Given the description of an element on the screen output the (x, y) to click on. 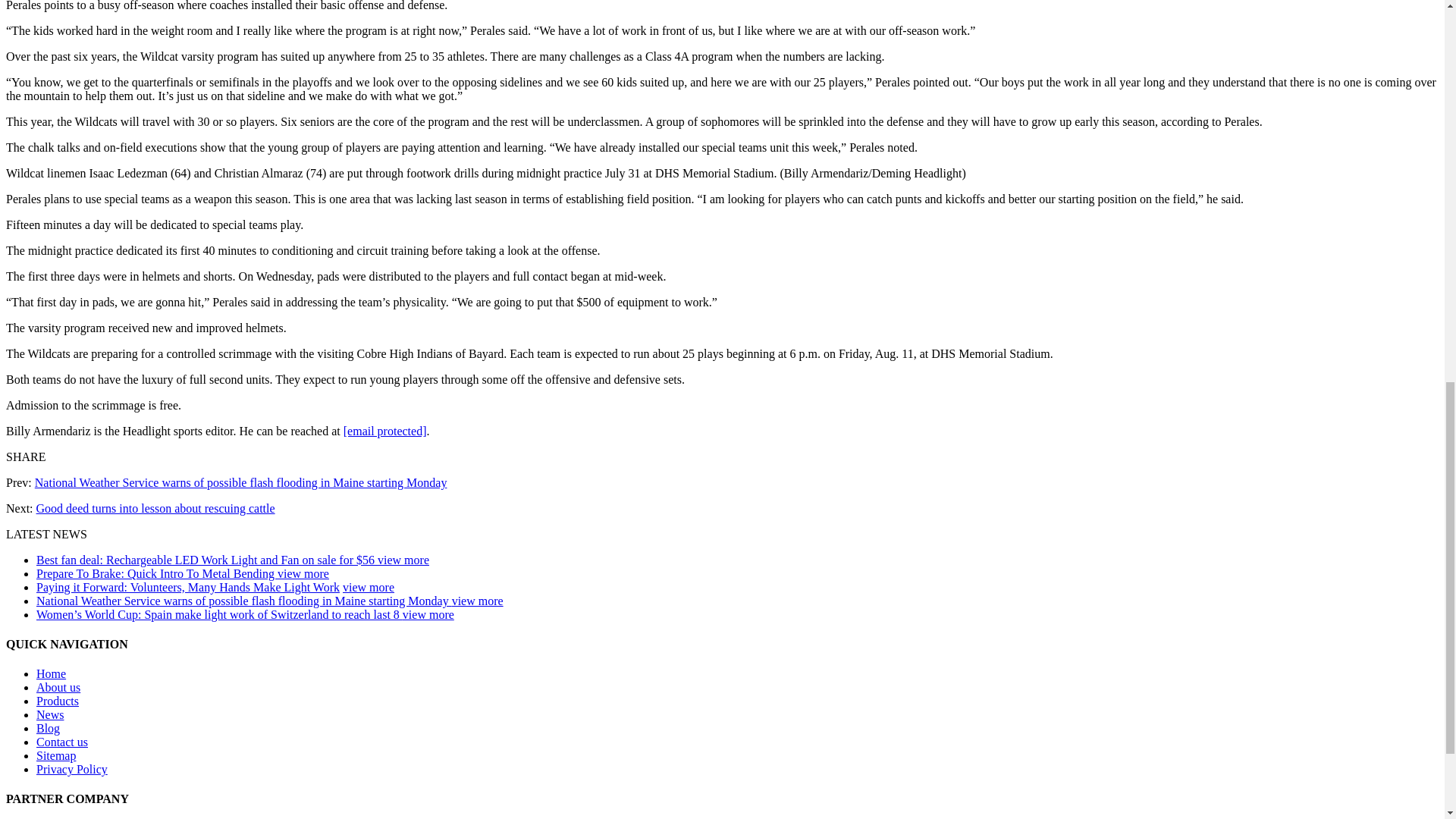
Prepare To Brake: Quick Intro To Metal Bending (157, 573)
Paying it Forward: Volunteers, Many Hands Make Light Work (187, 586)
Good deed turns into lesson about rescuing cattle (155, 508)
view more (368, 586)
view more (403, 559)
view more (303, 573)
